Given the description of an element on the screen output the (x, y) to click on. 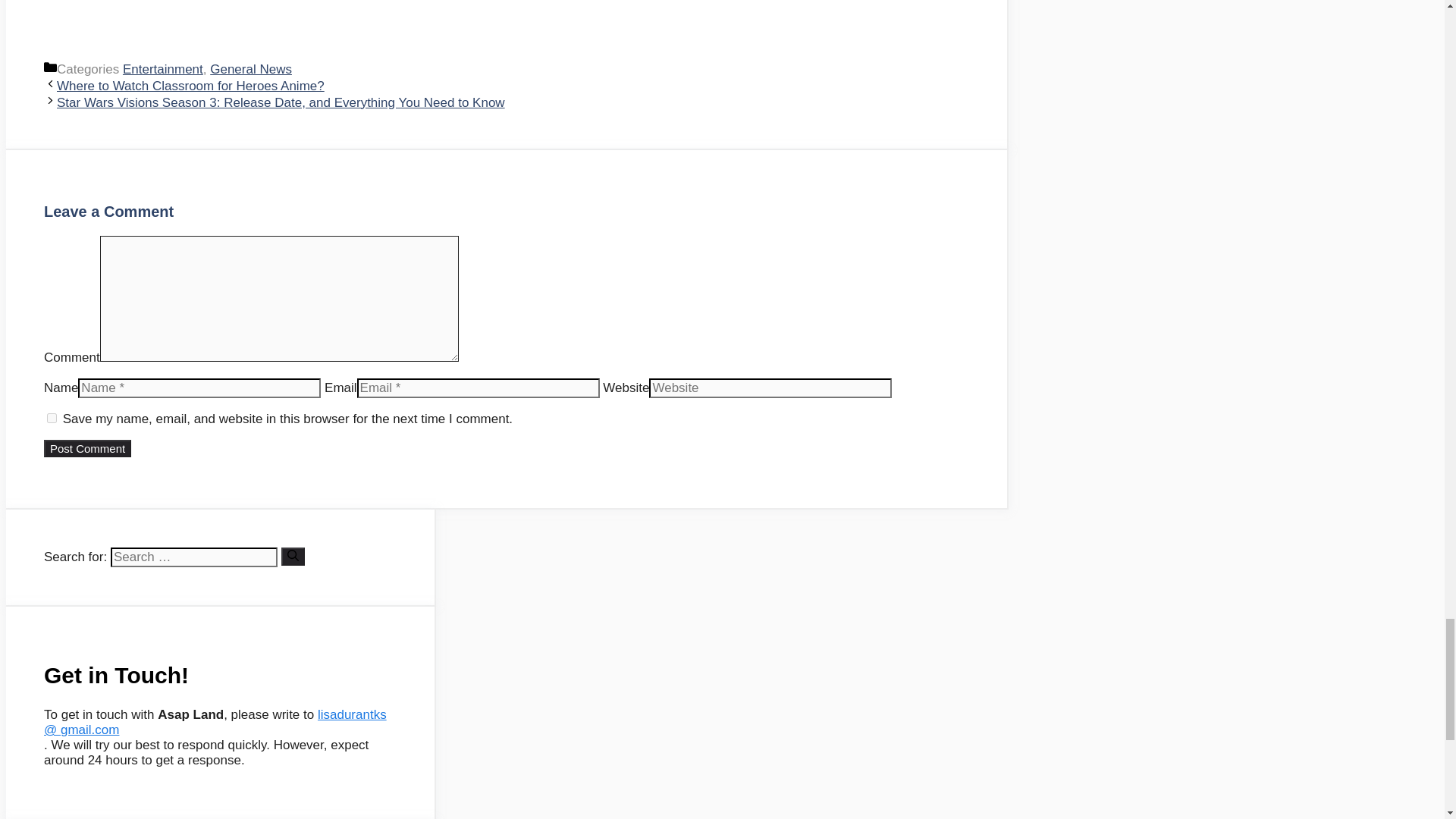
Search for: (194, 557)
Post Comment (87, 448)
General News (250, 69)
Post Comment (87, 448)
Entertainment (162, 69)
Where to Watch Classroom for Heroes Anime? (190, 85)
yes (51, 418)
